Given the description of an element on the screen output the (x, y) to click on. 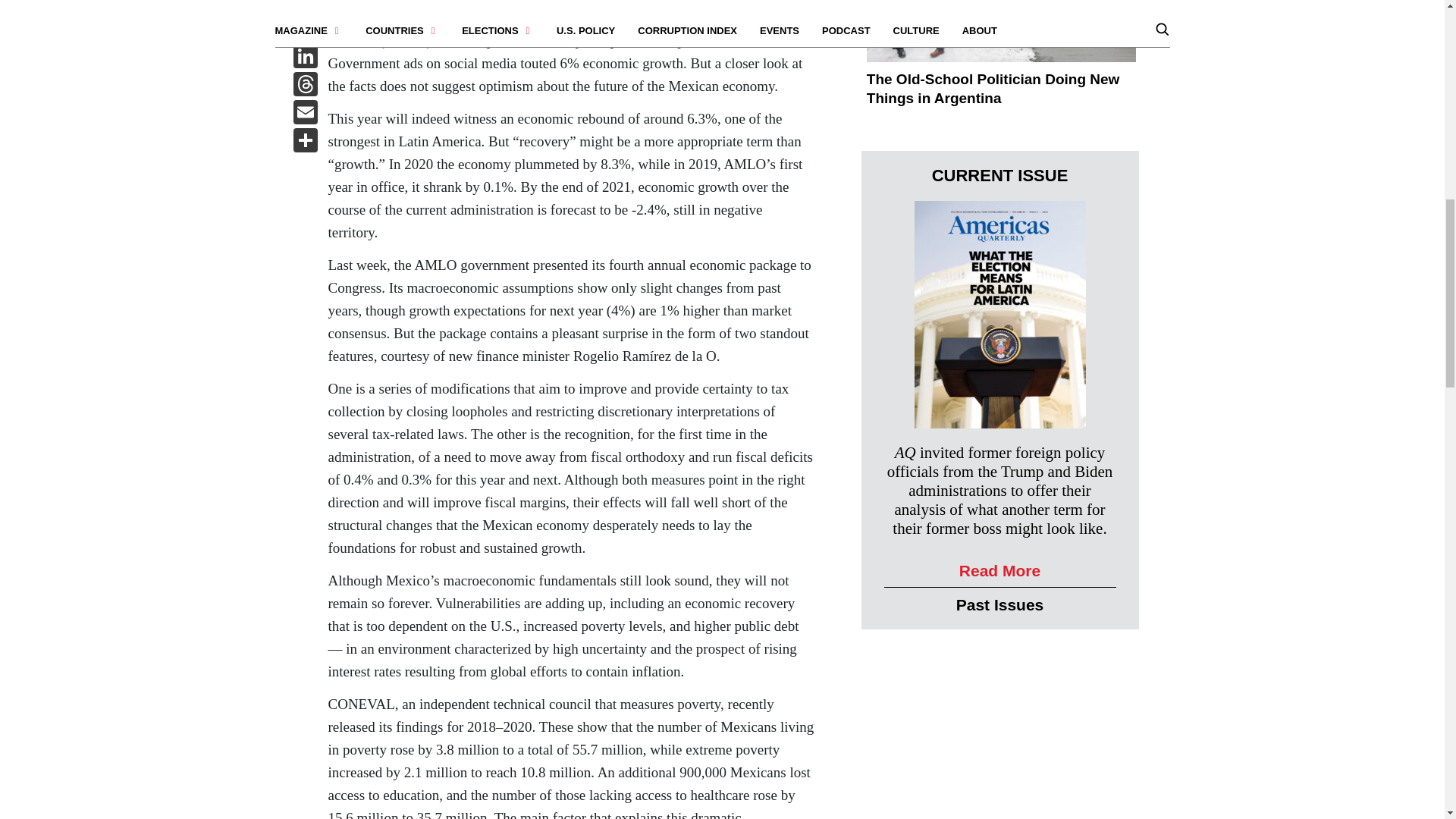
X (304, 29)
LinkedIn (304, 58)
Facebook (304, 7)
Email (304, 113)
Threads (304, 85)
